Given the description of an element on the screen output the (x, y) to click on. 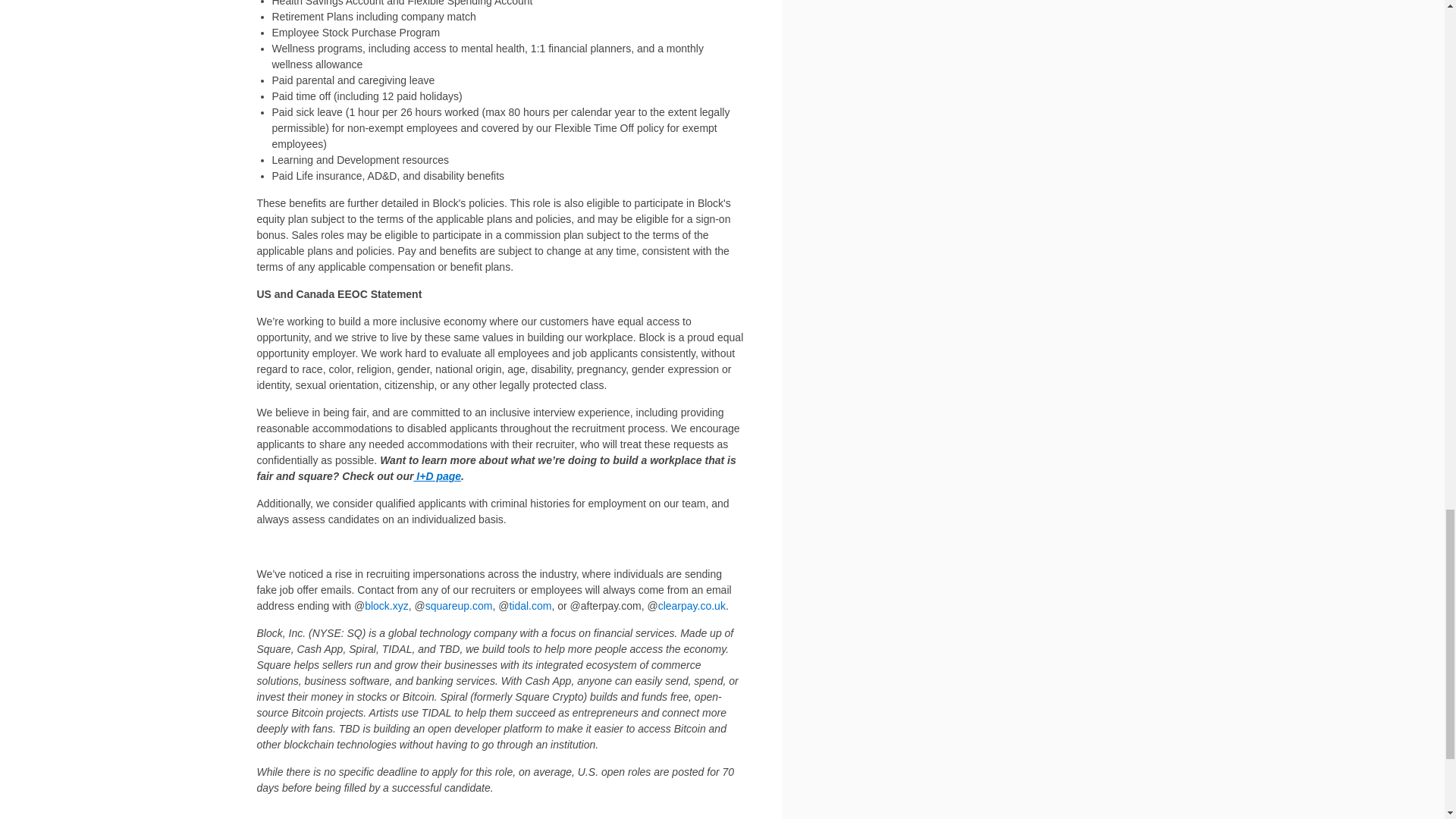
block.xyz (387, 605)
clearpay.co.uk (691, 605)
squareup.com (459, 605)
tidal.com (529, 605)
